Given the description of an element on the screen output the (x, y) to click on. 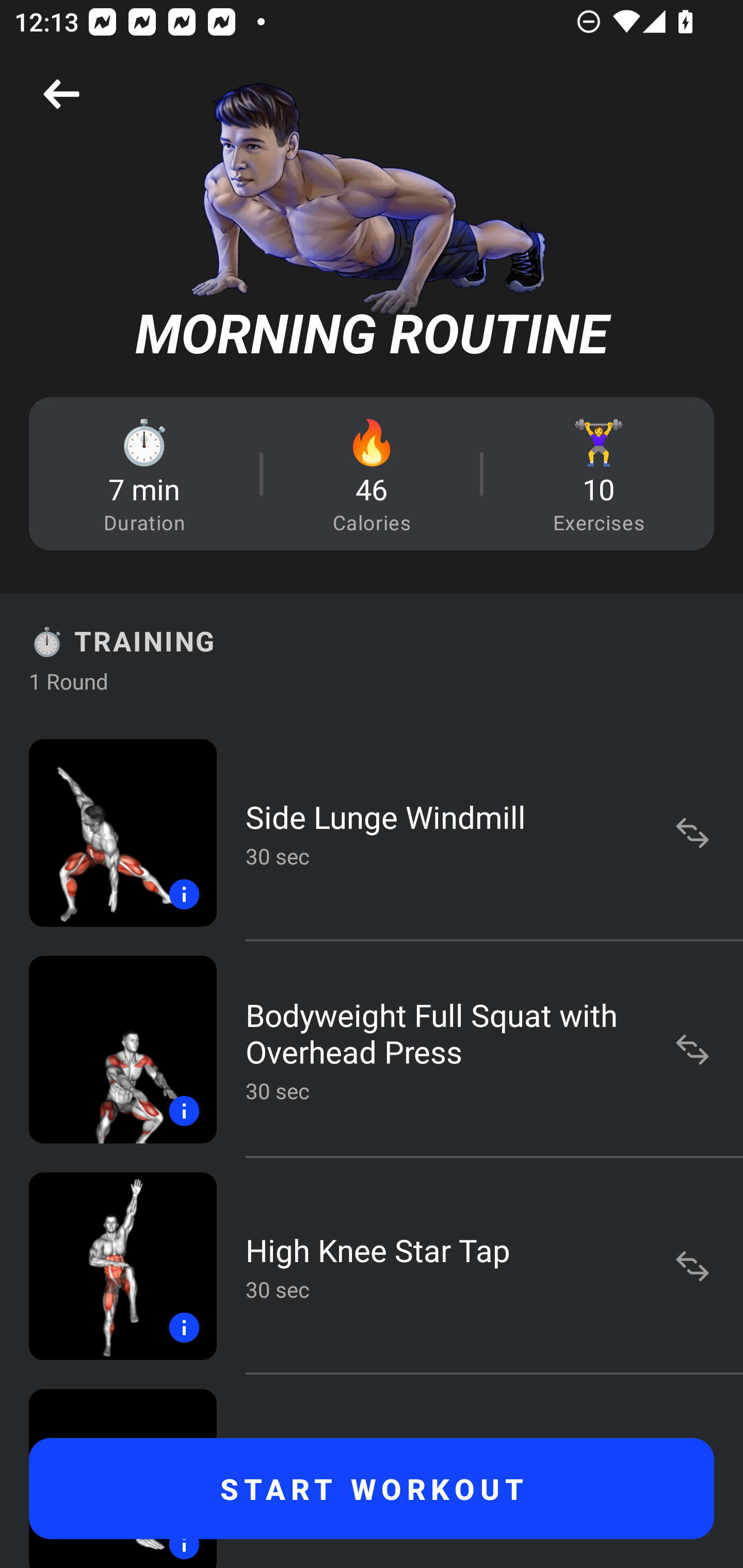
Side Lunge Windmill 30 sec (371, 832)
Bodyweight Full Squat with Overhead Press 30 sec (371, 1048)
High Knee Star Tap 30 sec (371, 1266)
START WORKOUT (371, 1488)
